Given the description of an element on the screen output the (x, y) to click on. 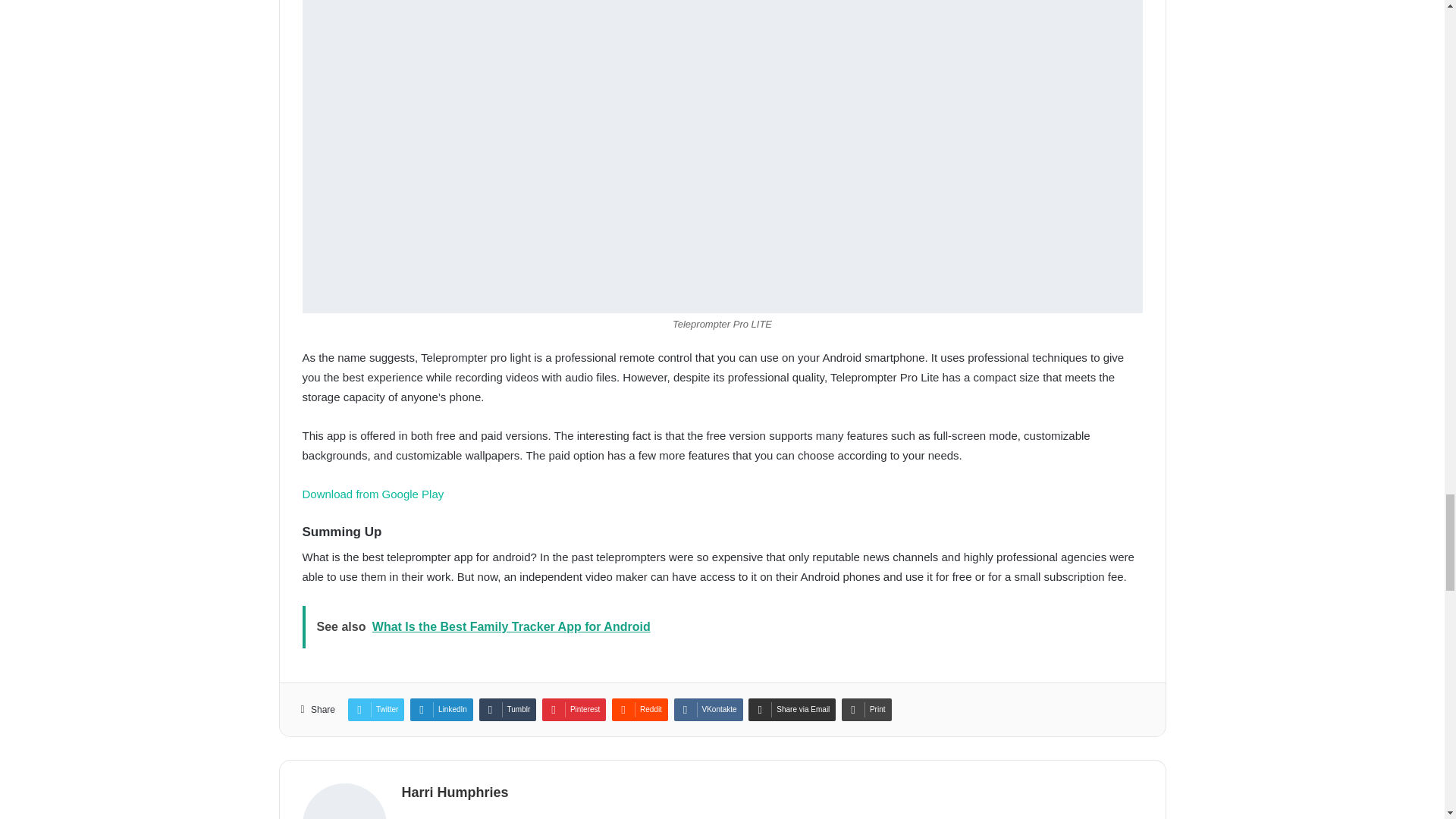
See also  What Is the Best Family Tracker App for Android (721, 627)
Download from Google Play (372, 493)
